Given the description of an element on the screen output the (x, y) to click on. 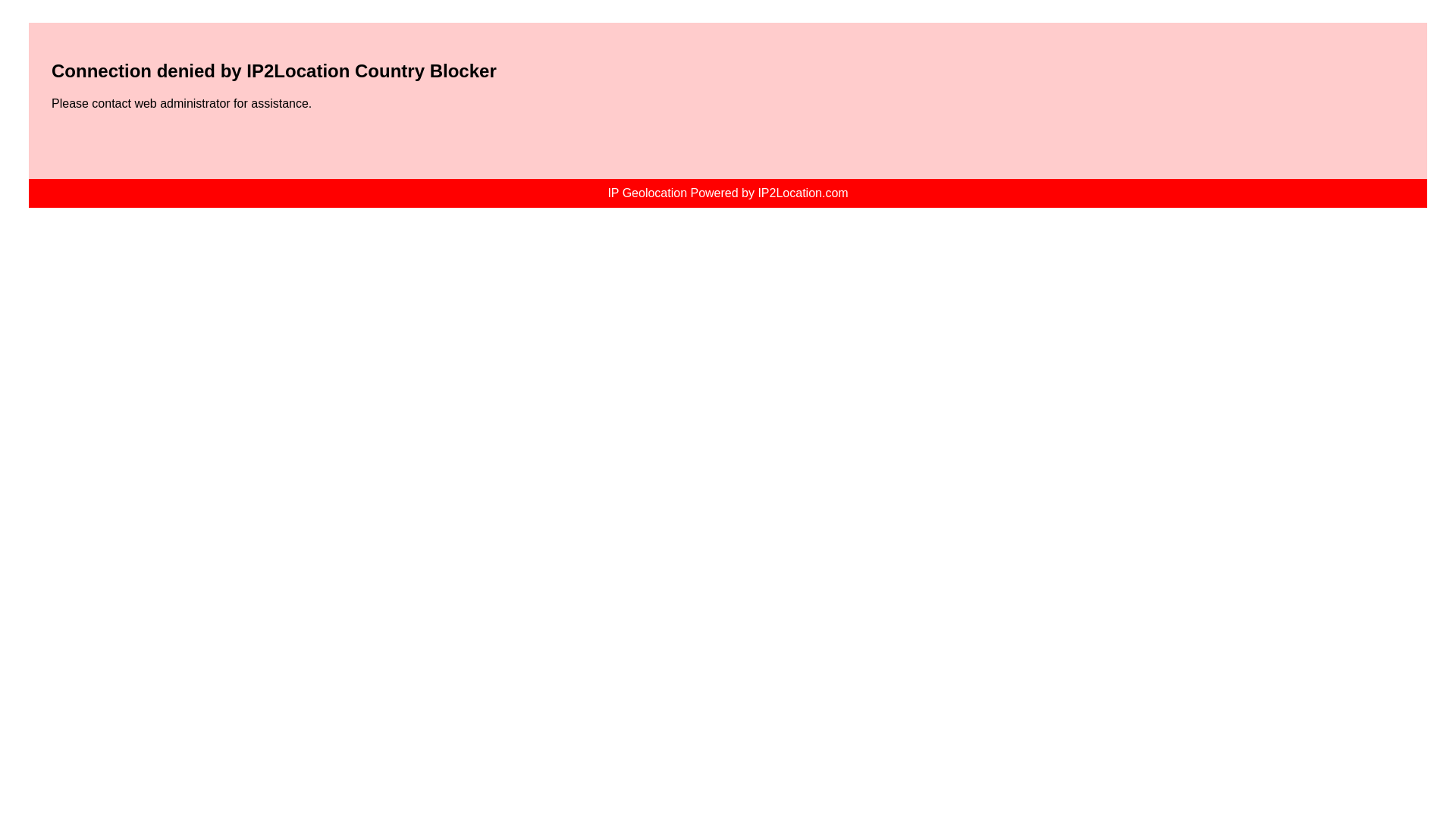
IP Geolocation Powered by IP2Location.com (727, 192)
